Given the description of an element on the screen output the (x, y) to click on. 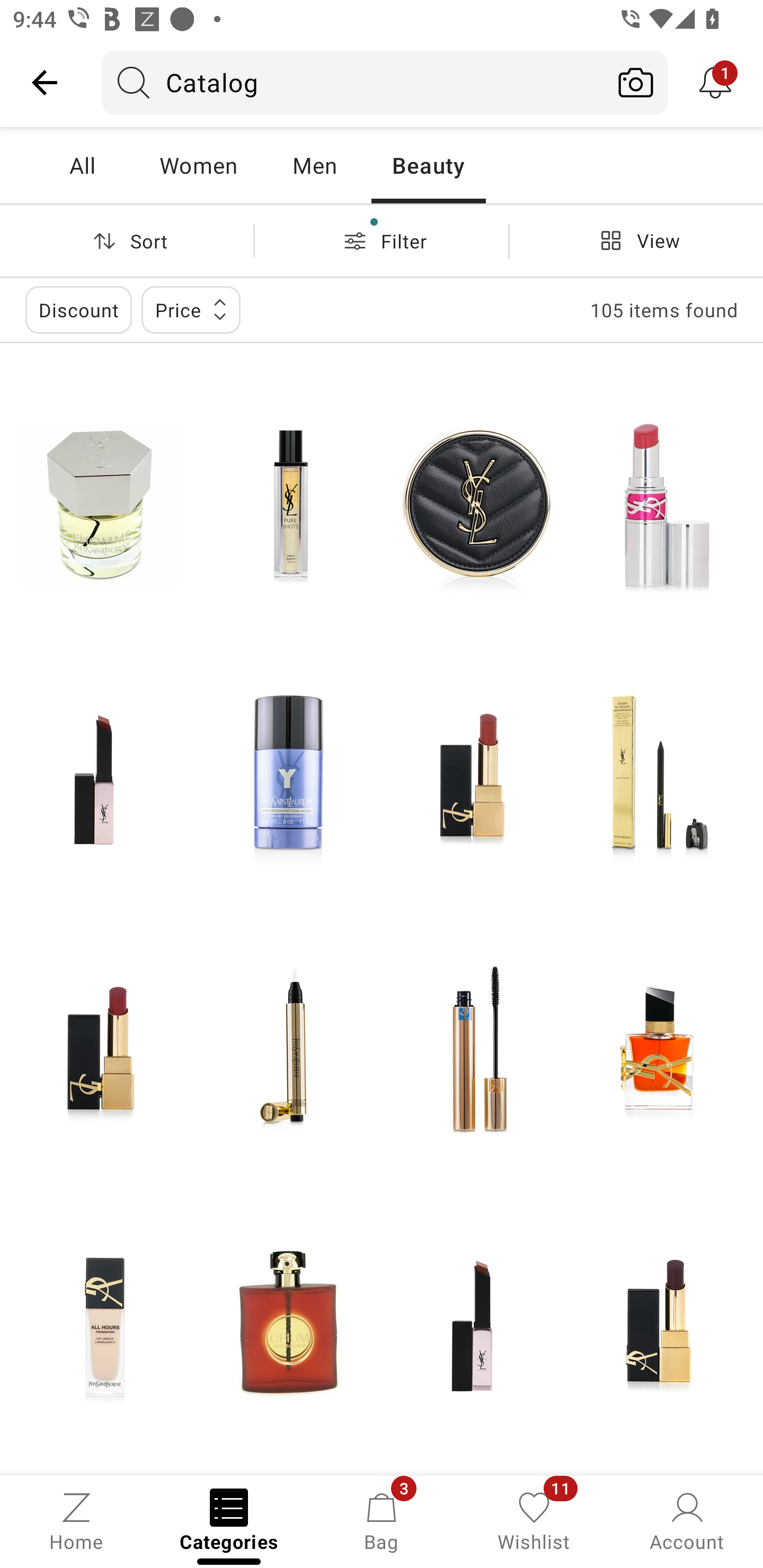
Navigate up (44, 82)
Catalog (352, 82)
All (82, 165)
Women (198, 165)
Men (314, 165)
Sort (126, 240)
Filter (381, 240)
View (636, 240)
Discount (78, 309)
Price (190, 309)
Home (76, 1519)
Bag, 3 new notifications Bag (381, 1519)
Wishlist, 11 new notifications Wishlist (533, 1519)
Account (686, 1519)
